Given the description of an element on the screen output the (x, y) to click on. 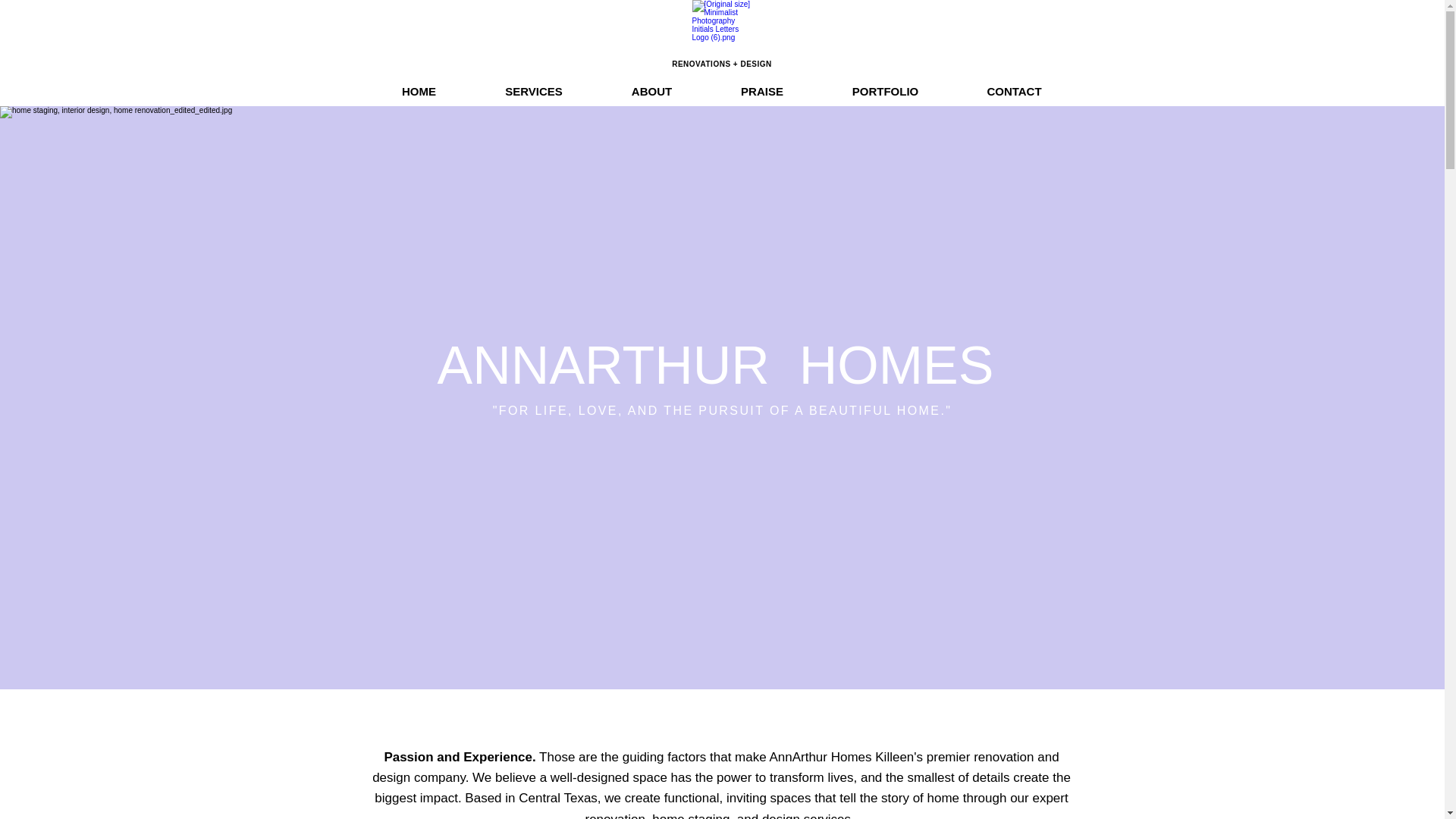
PORTFOLIO (884, 91)
ABOUT (651, 91)
PRAISE (762, 91)
CONTACT (1013, 91)
HOME (418, 91)
